Given the description of an element on the screen output the (x, y) to click on. 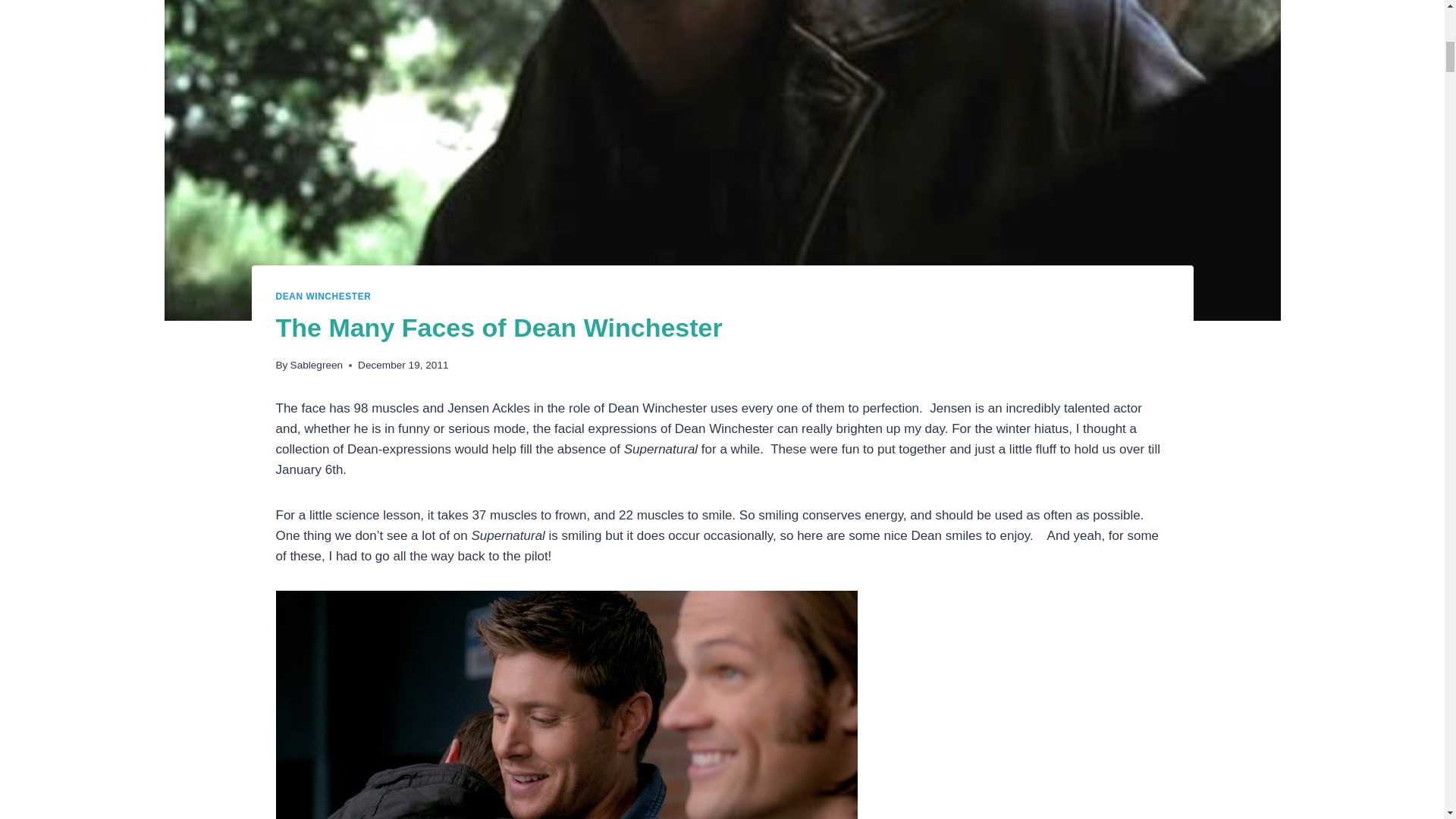
DEAN WINCHESTER (323, 296)
Sablegreen (316, 365)
